Given the description of an element on the screen output the (x, y) to click on. 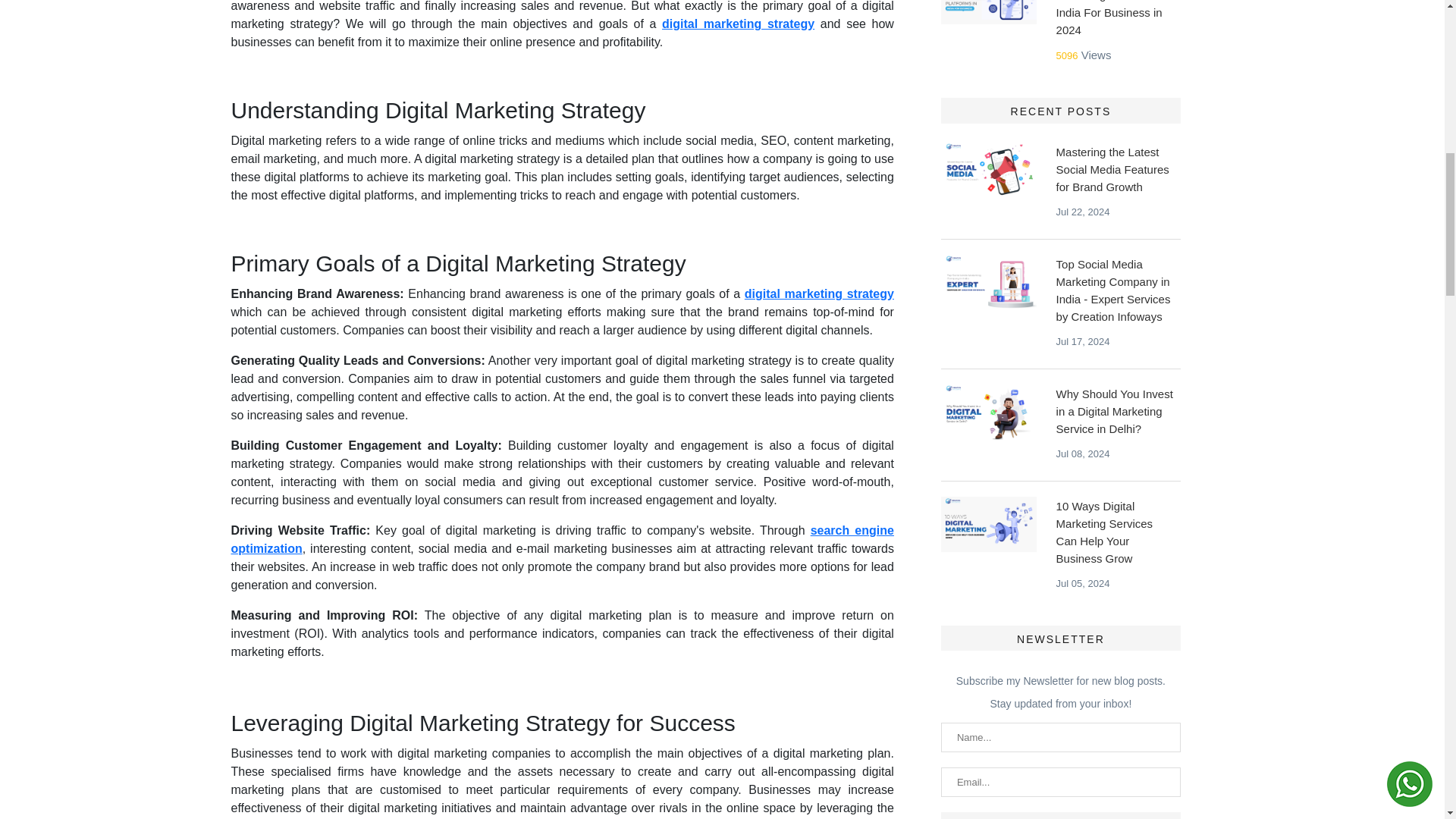
digital marketing strategy (818, 293)
digital marketing strategy (737, 23)
search engine optimization (561, 539)
Subscribe Now (1060, 815)
